Given the description of an element on the screen output the (x, y) to click on. 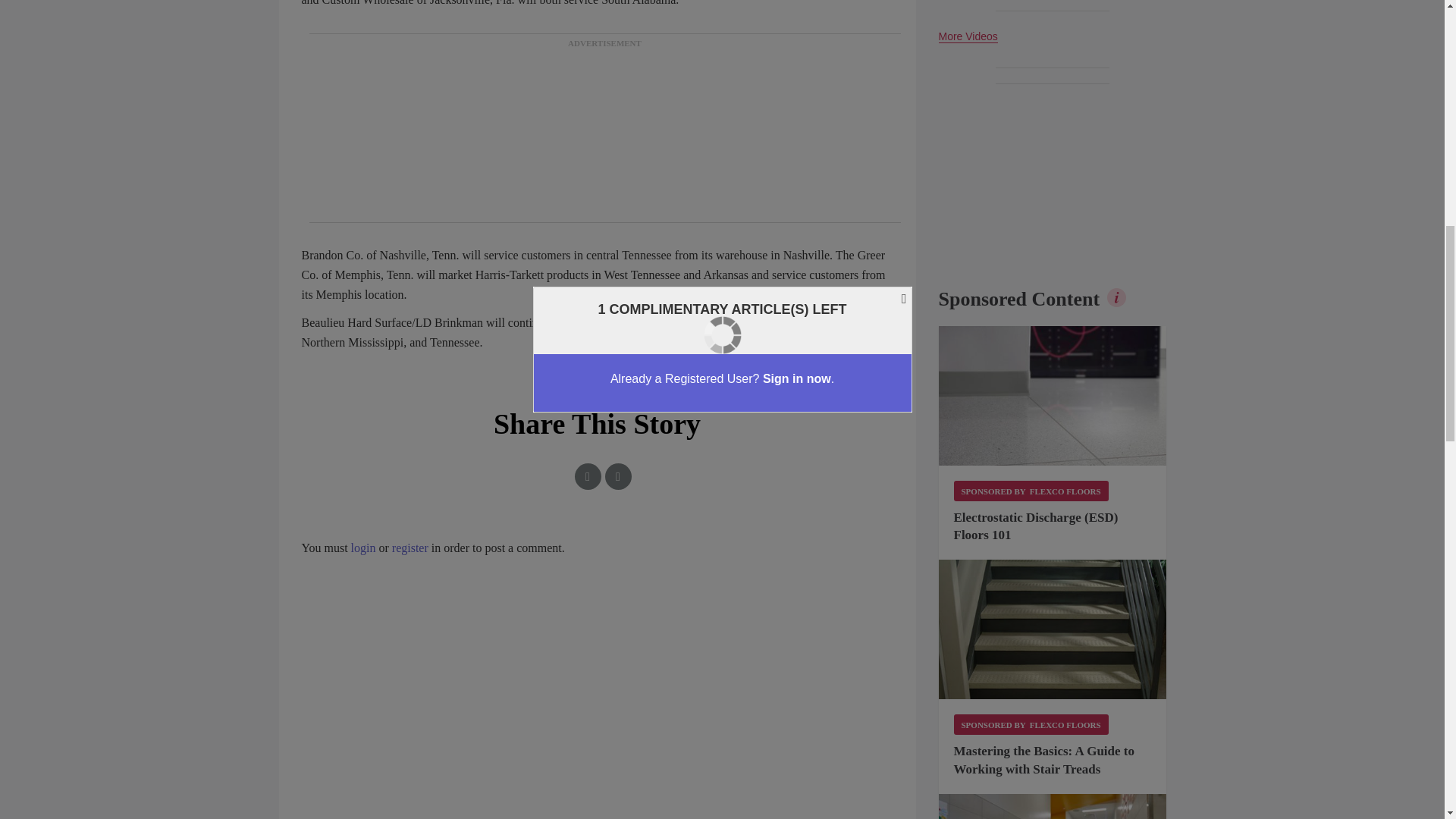
ESD flooring (1052, 395)
Sponsored by Flexco Floors (1030, 490)
Sponsored by Flexco Floors (1030, 724)
stair treads (1052, 629)
rubber flooring (1052, 806)
